Given the description of an element on the screen output the (x, y) to click on. 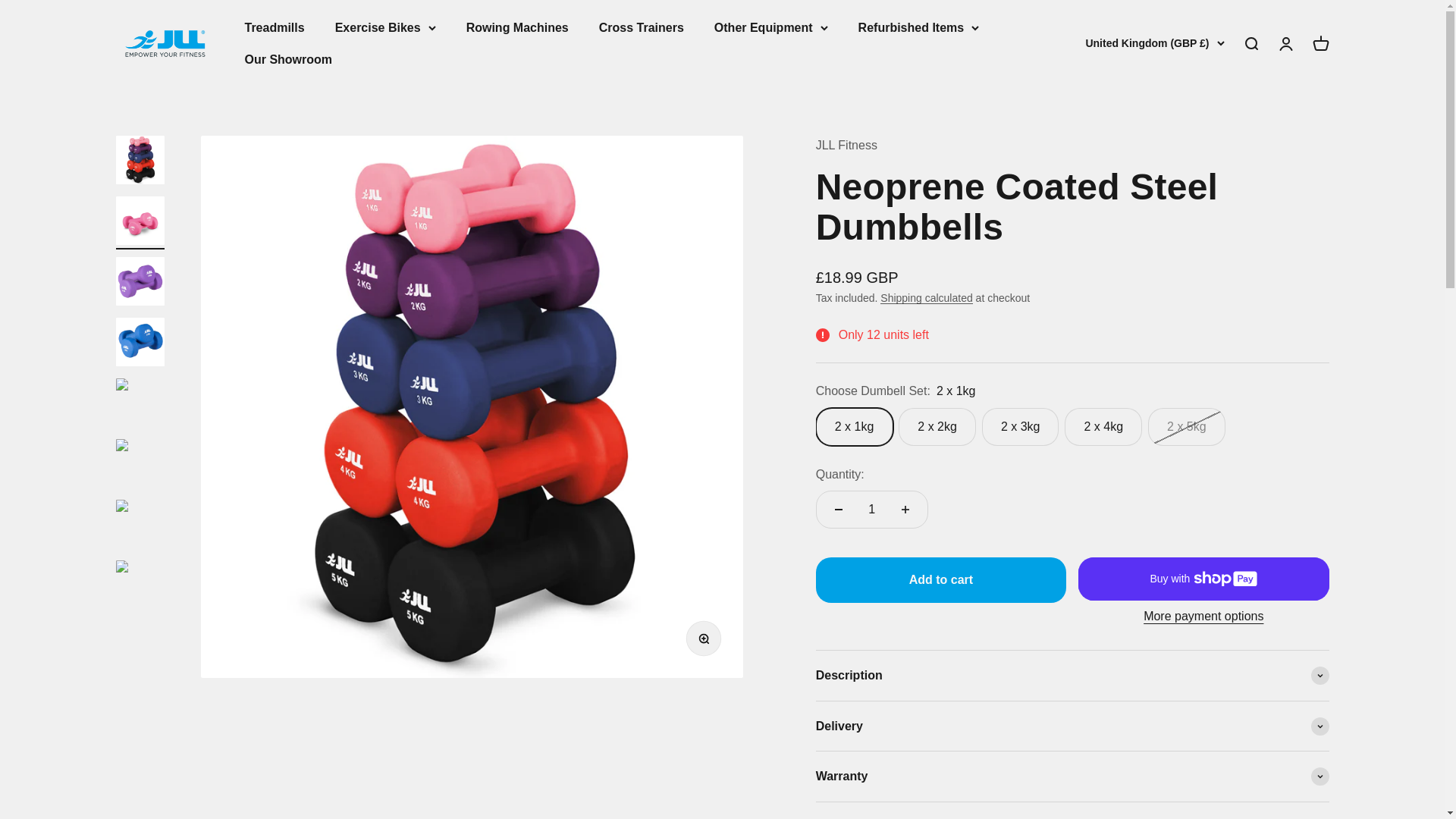
Our Showroom (287, 59)
2 x 1kg (1072, 426)
2 x 5kg (164, 43)
2 x 3kg (1072, 426)
Treadmills (641, 27)
Open account page (274, 27)
2 x 4kg (517, 27)
2 x 2kg (1319, 44)
Open search (1285, 44)
